Given the description of an element on the screen output the (x, y) to click on. 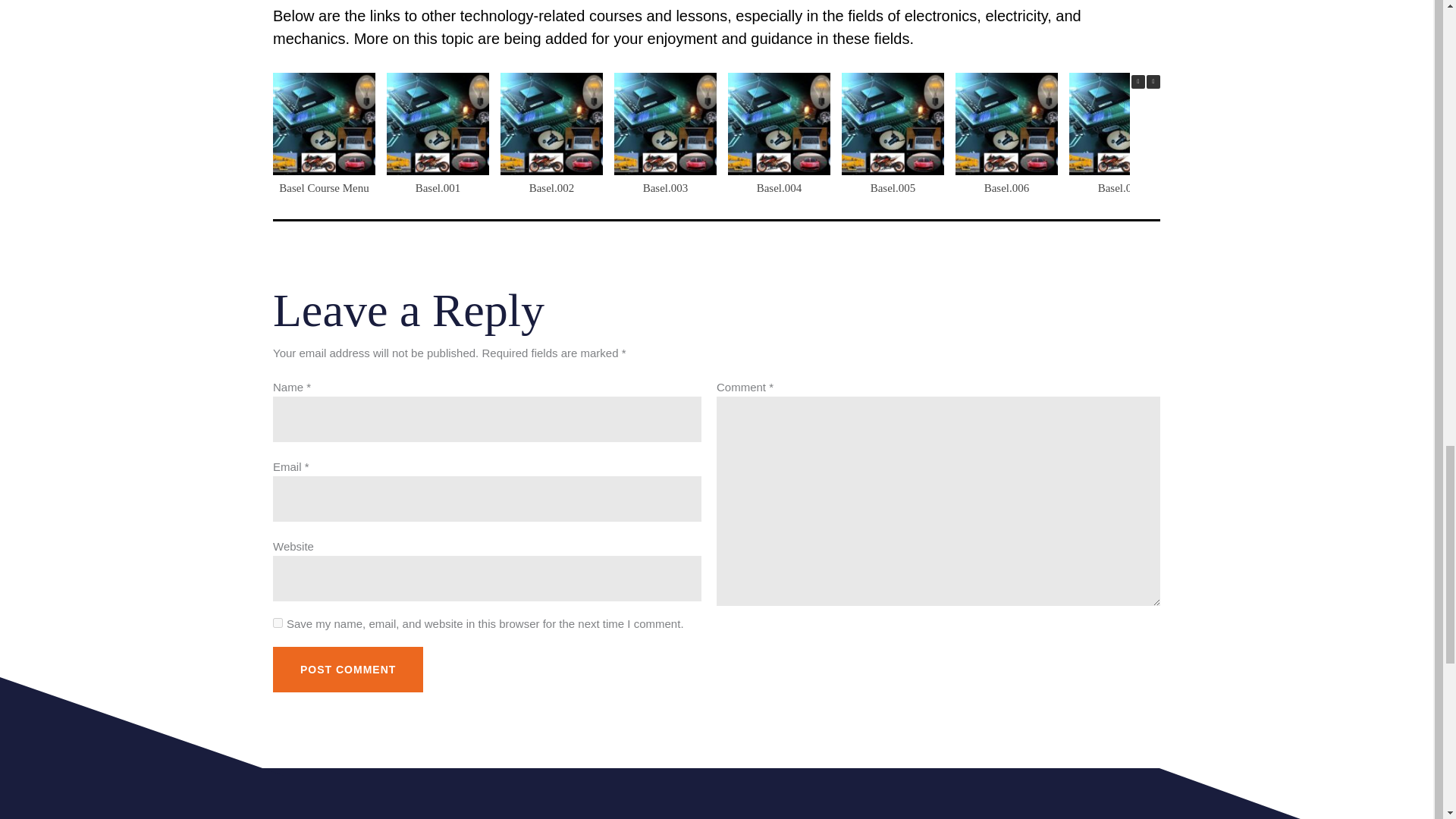
Previous (1137, 81)
Next (1153, 81)
yes (277, 623)
Post Comment (348, 669)
